Given the description of an element on the screen output the (x, y) to click on. 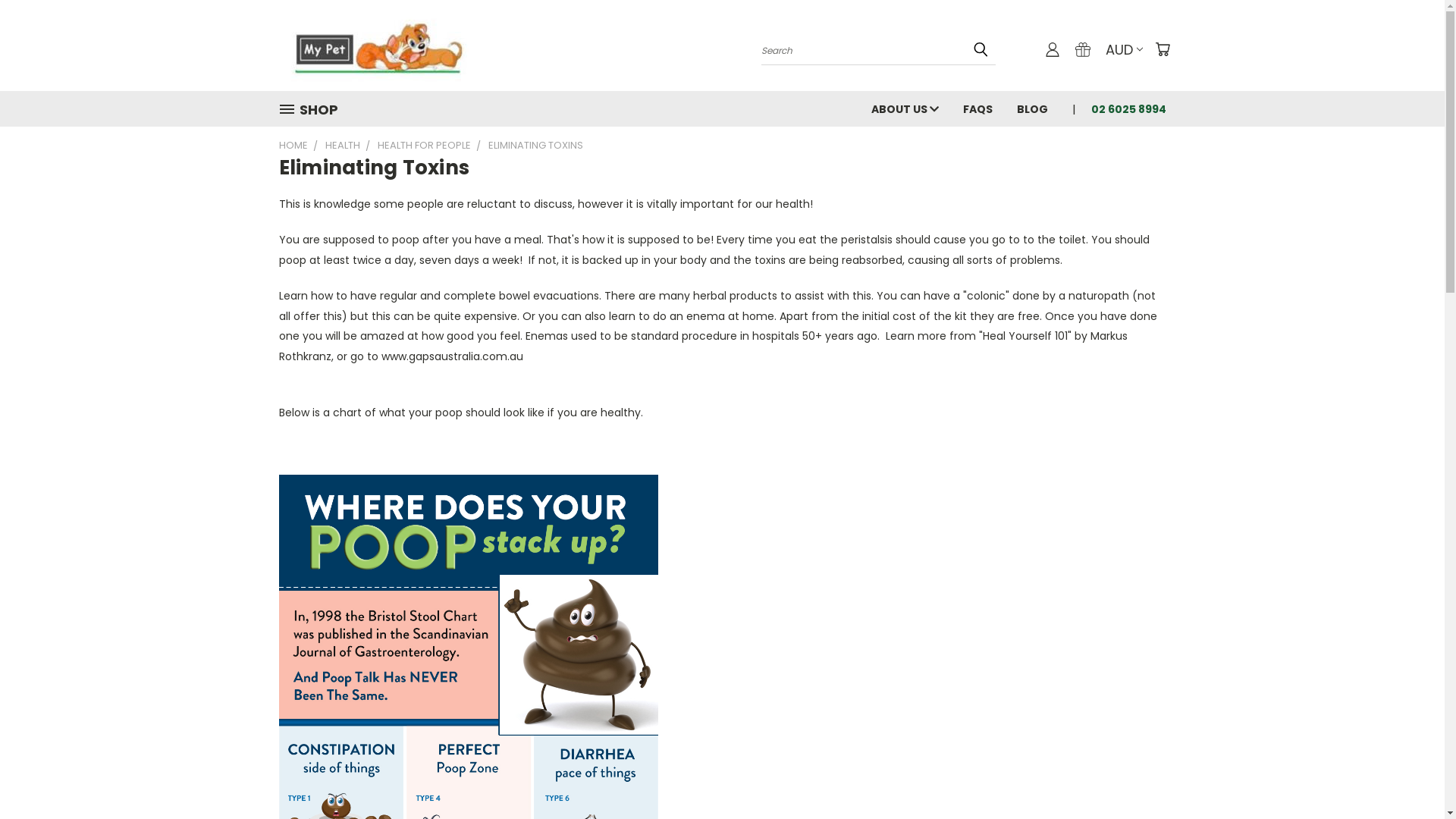
ABOUT US Element type: text (904, 108)
HOME Element type: text (293, 145)
SHOP Element type: text (314, 109)
My Pet Element type: hover (373, 45)
BLOG Element type: text (1031, 108)
submit Element type: hover (980, 48)
HEALTH Element type: text (341, 145)
HEALTH FOR PEOPLE Element type: text (423, 145)
FAQS Element type: text (977, 108)
02 6025 8994 Element type: text (1121, 108)
AUD Element type: text (1123, 49)
